Given the description of an element on the screen output the (x, y) to click on. 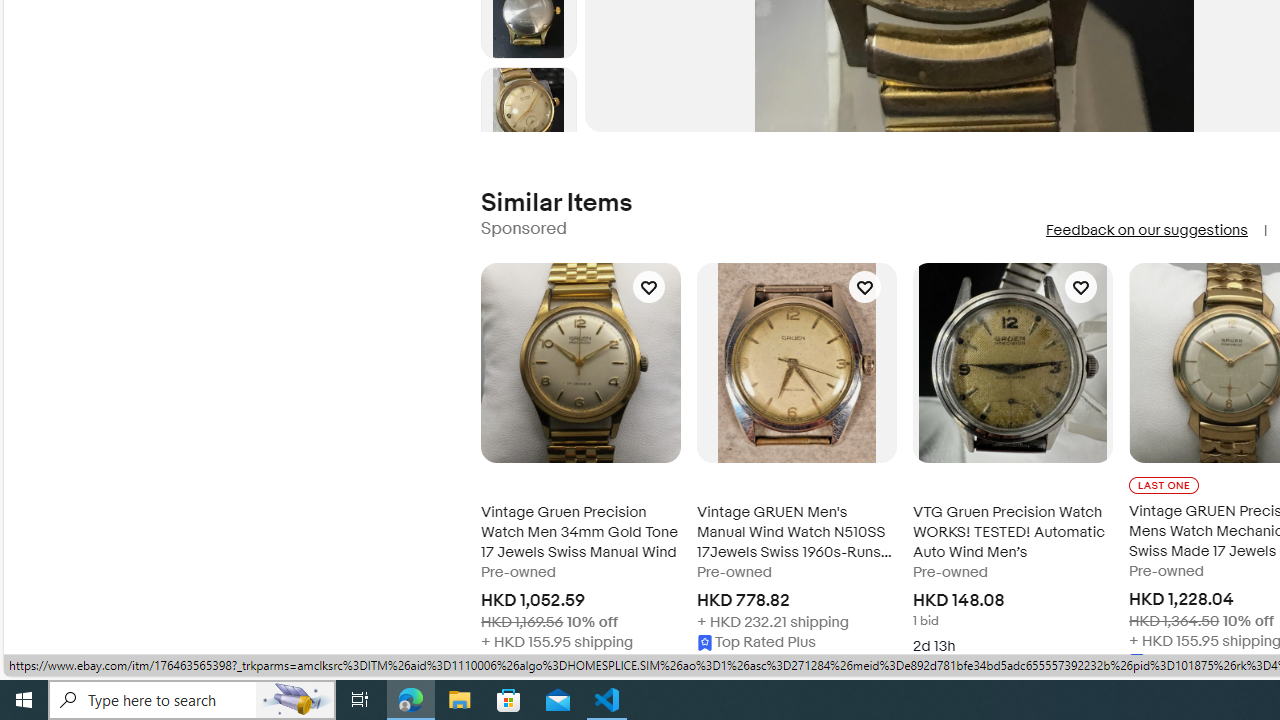
Picture 5 of 13 (528, 114)
Next image - Item images thumbnails (528, 127)
Feedback on our suggestions (1146, 229)
Picture 5 of 13 (528, 114)
